Given the description of an element on the screen output the (x, y) to click on. 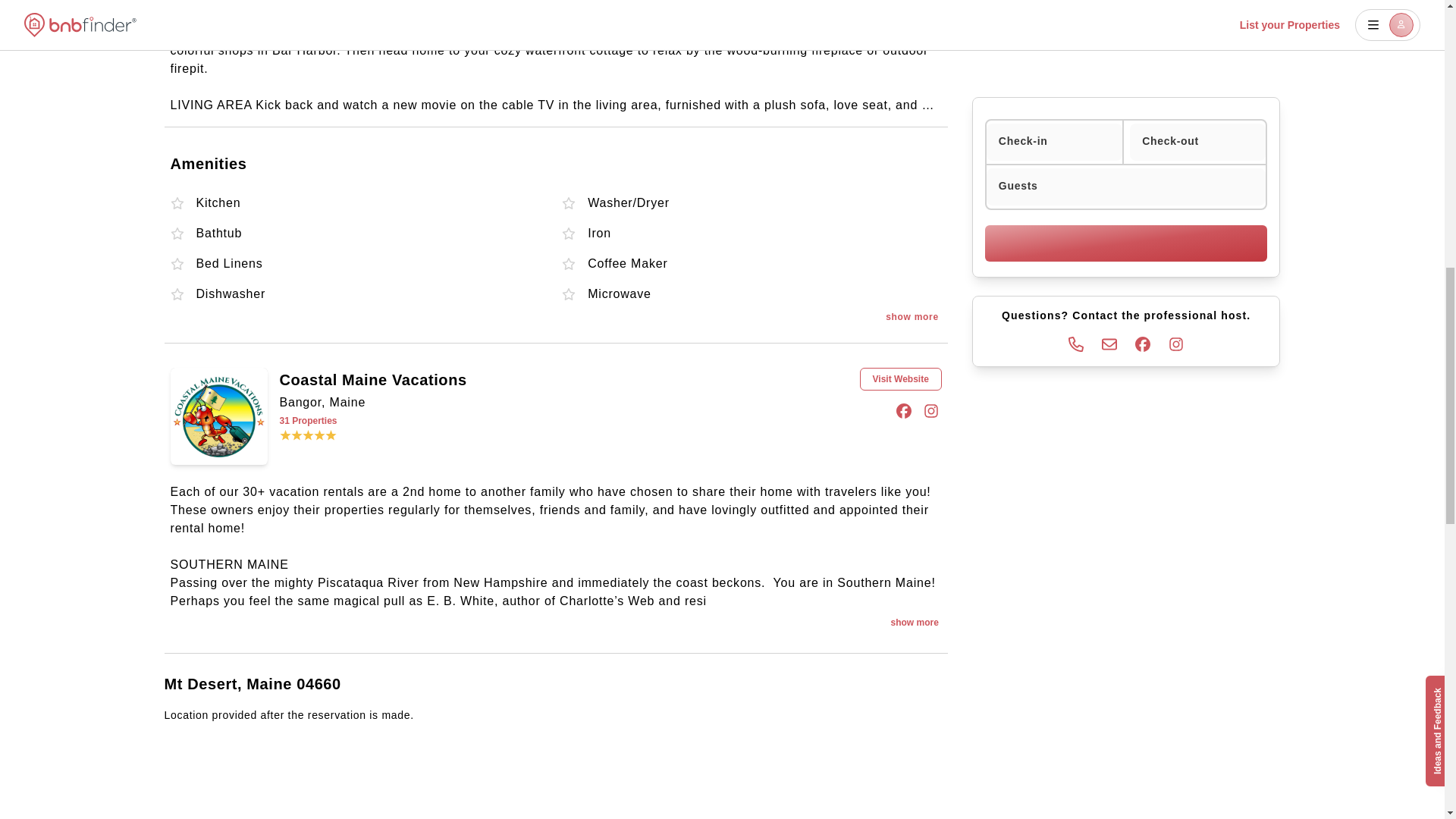
show more (913, 622)
31 Properties (441, 420)
show more (911, 316)
Visit Website (901, 378)
